Given the description of an element on the screen output the (x, y) to click on. 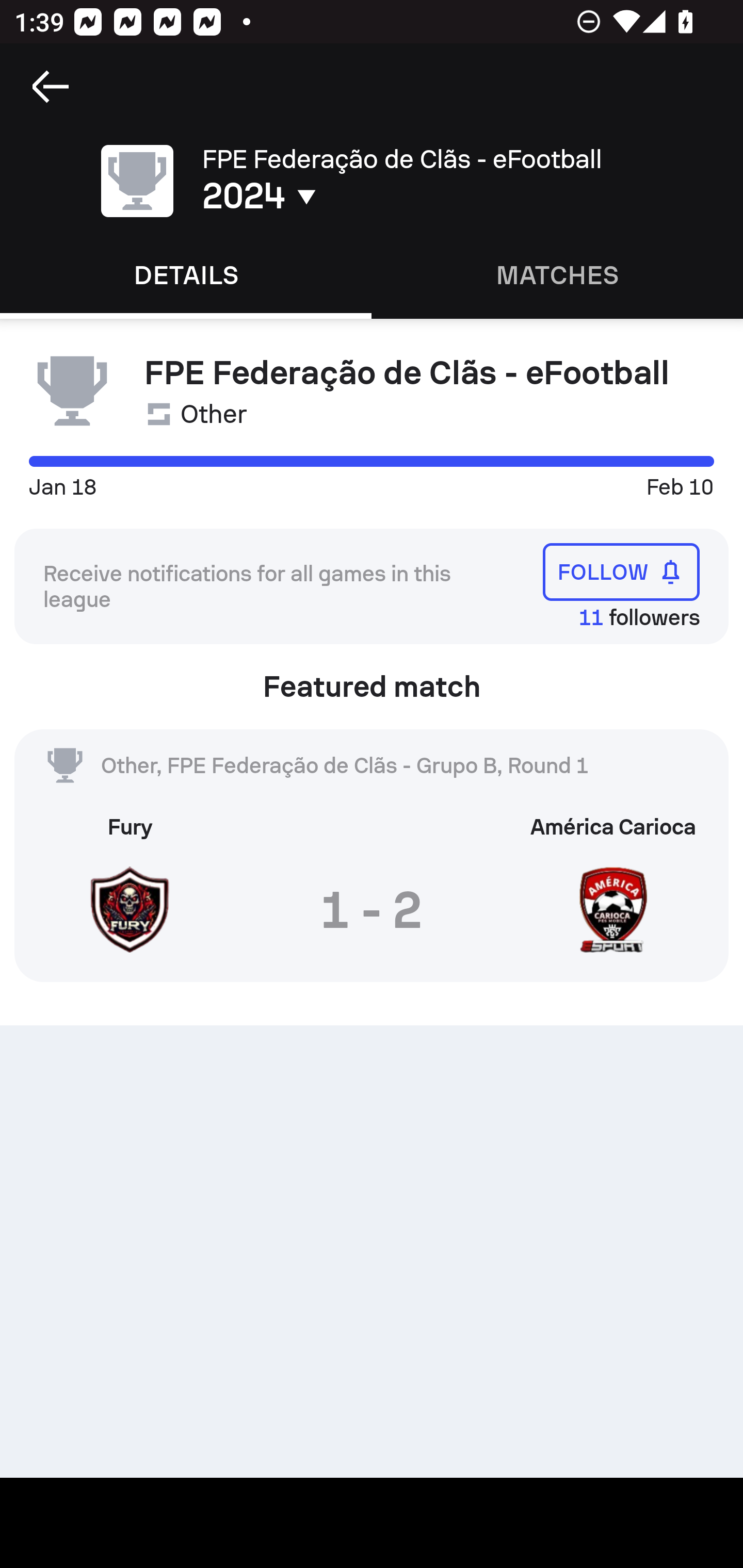
Navigate up (50, 86)
2024 (350, 195)
Matches MATCHES (557, 275)
FOLLOW (621, 571)
